Given the description of an element on the screen output the (x, y) to click on. 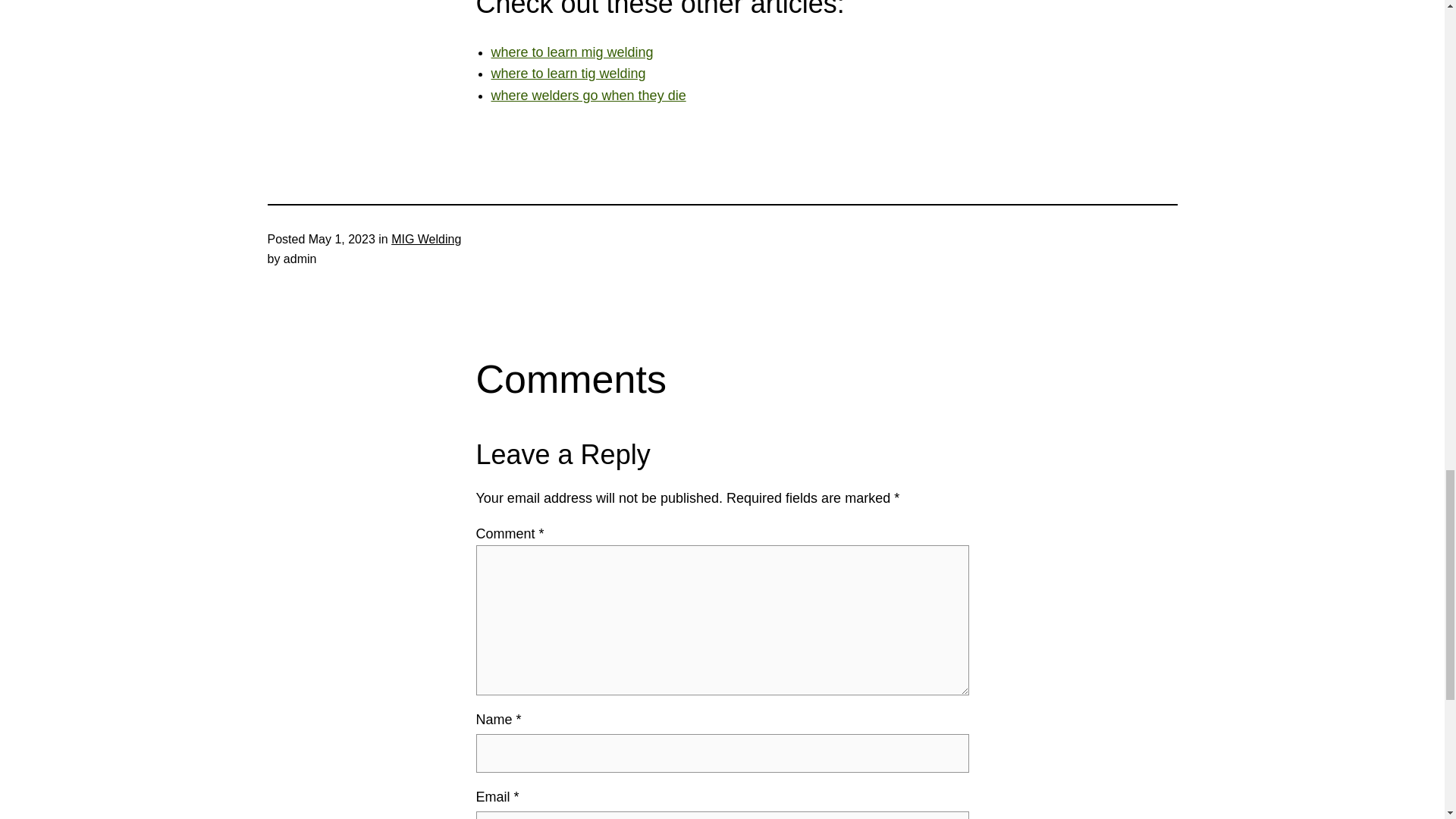
MIG Welding (426, 238)
where to learn mig welding (572, 52)
where welders go when they die (588, 95)
where to learn tig welding (569, 73)
